Given the description of an element on the screen output the (x, y) to click on. 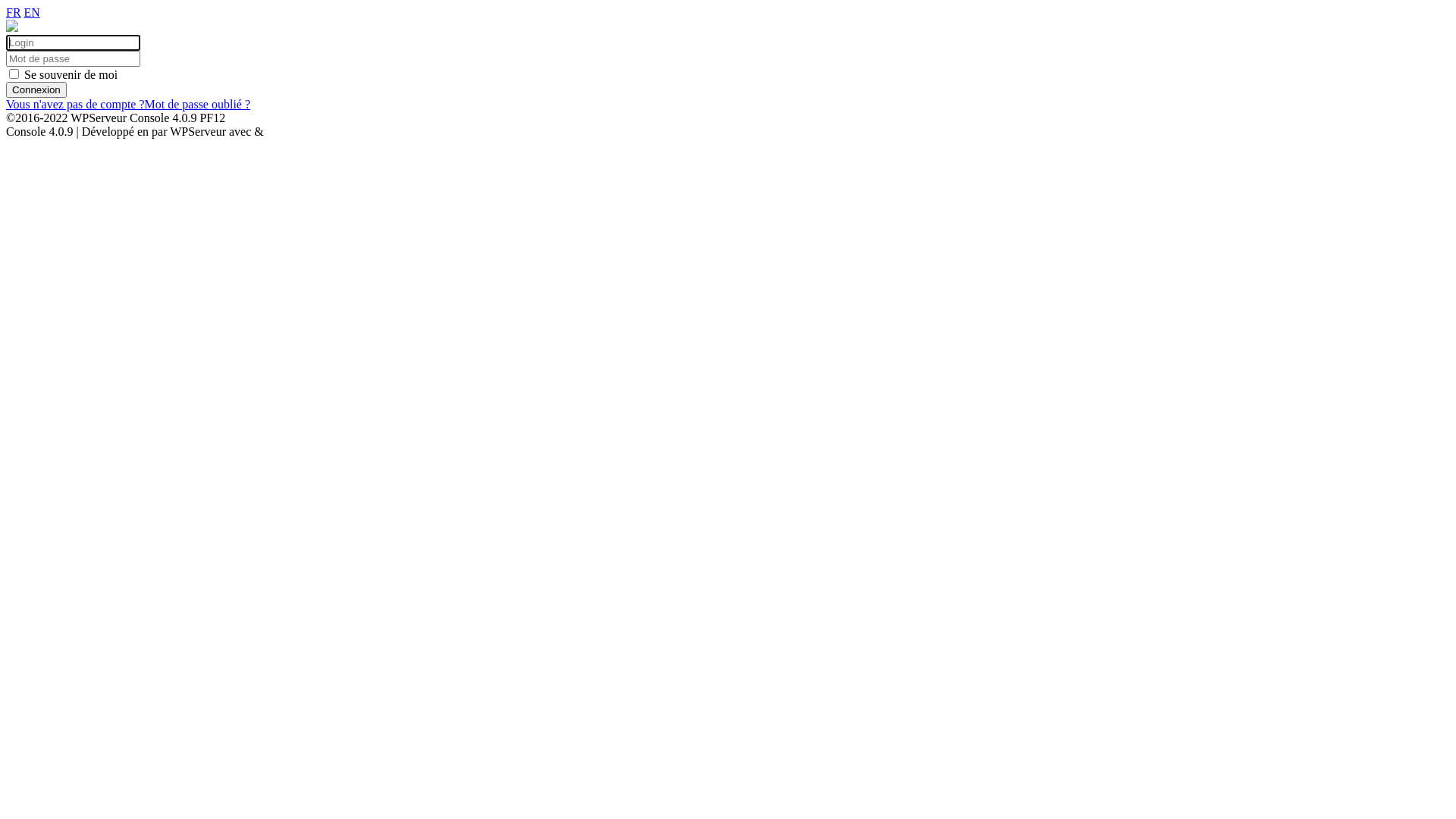
FR Element type: text (13, 12)
Connexion Element type: text (36, 89)
EN Element type: text (32, 12)
Vous n'avez pas de compte ? Element type: text (75, 103)
